Given the description of an element on the screen output the (x, y) to click on. 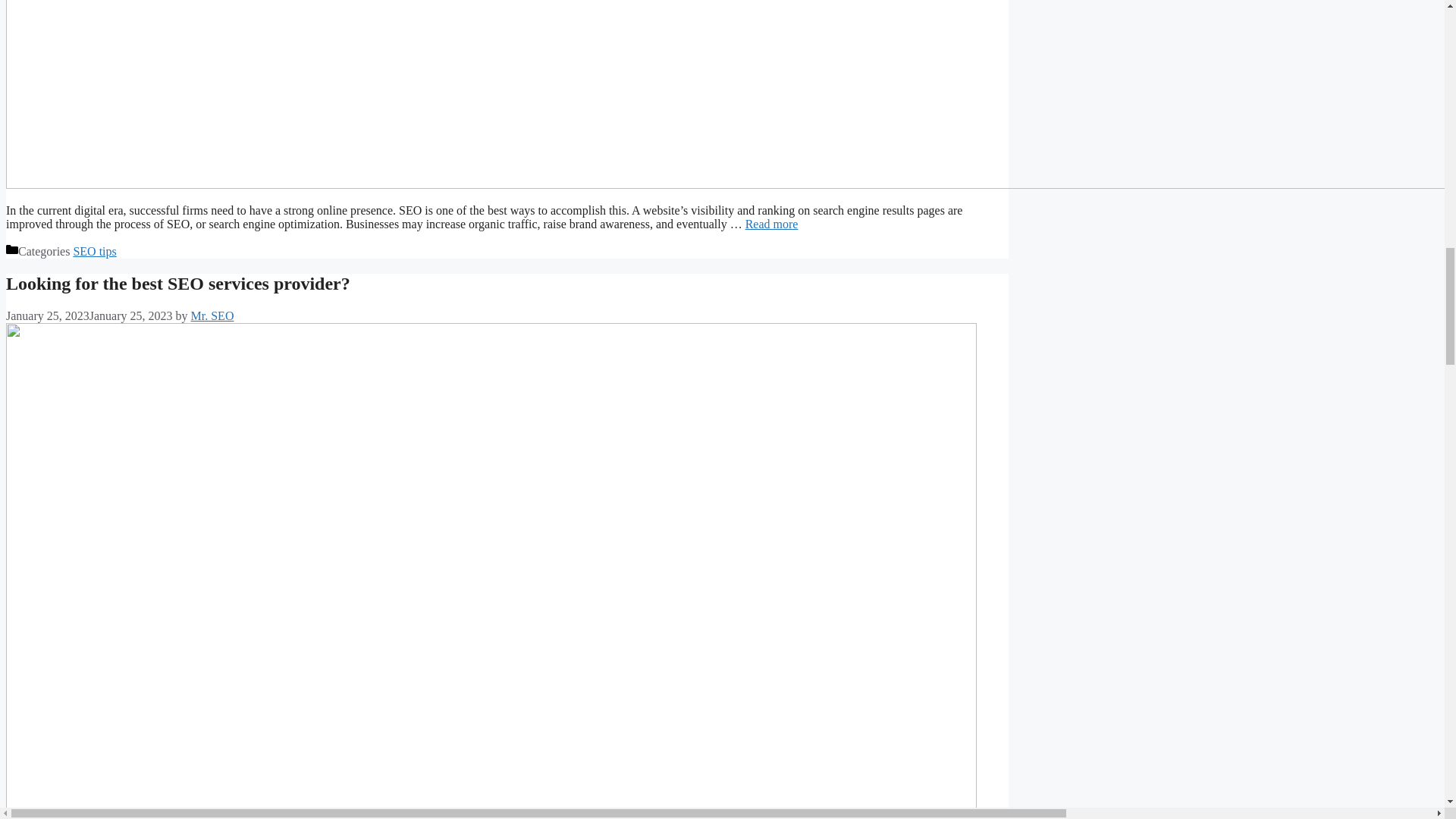
View all posts by Mr. SEO (212, 315)
Looking for the best SEO services provider? (177, 283)
Mr. SEO (212, 315)
SEO tips (94, 250)
How SEO Can Jump-Start a Business (771, 223)
Read more (771, 223)
